Given the description of an element on the screen output the (x, y) to click on. 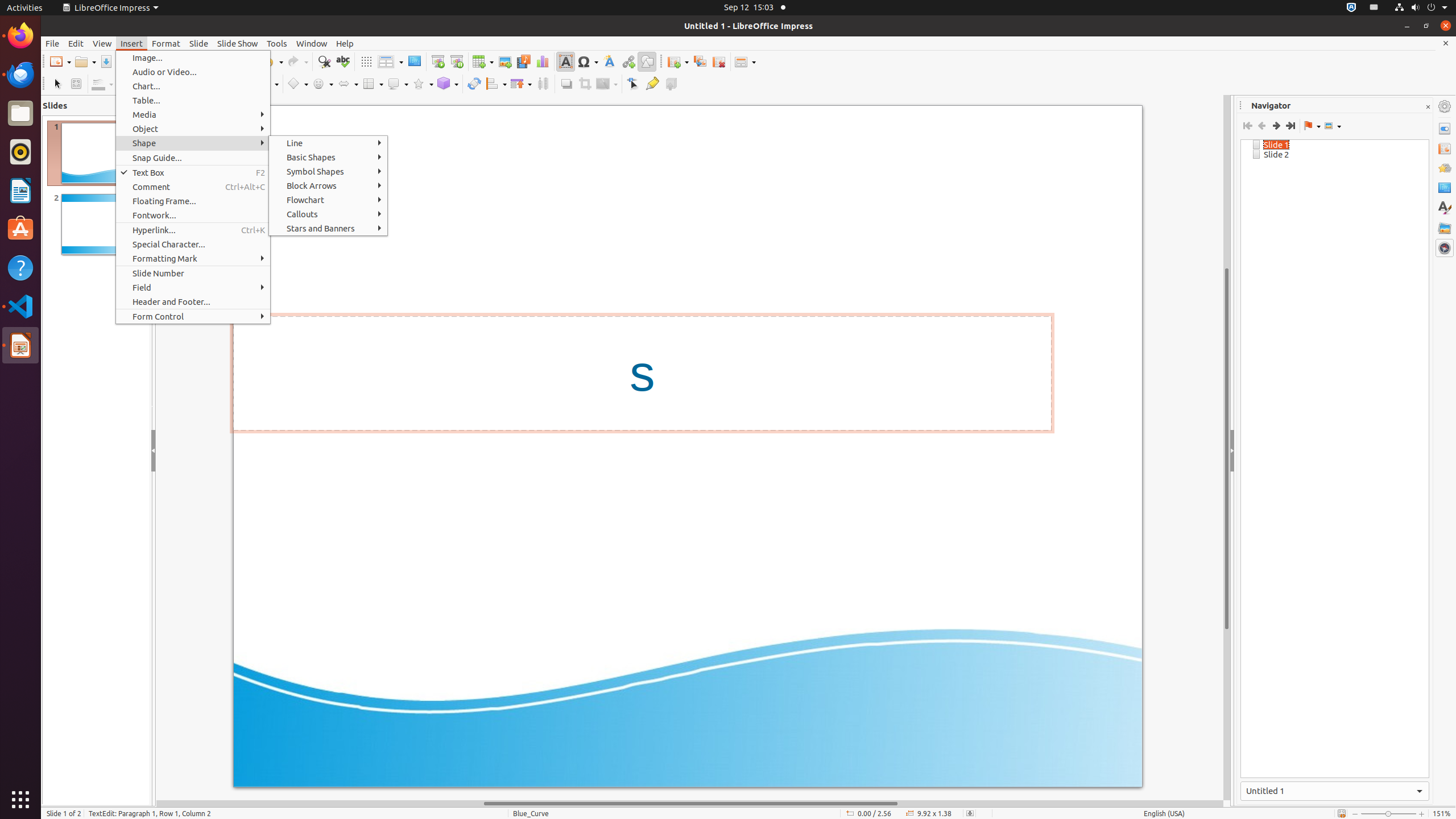
Callouts Element type: menu (328, 214)
Previous Slide Element type: push-button (1261, 125)
Active Window Element type: combo-box (1334, 790)
Special Character... Element type: menu-item (193, 244)
